Given the description of an element on the screen output the (x, y) to click on. 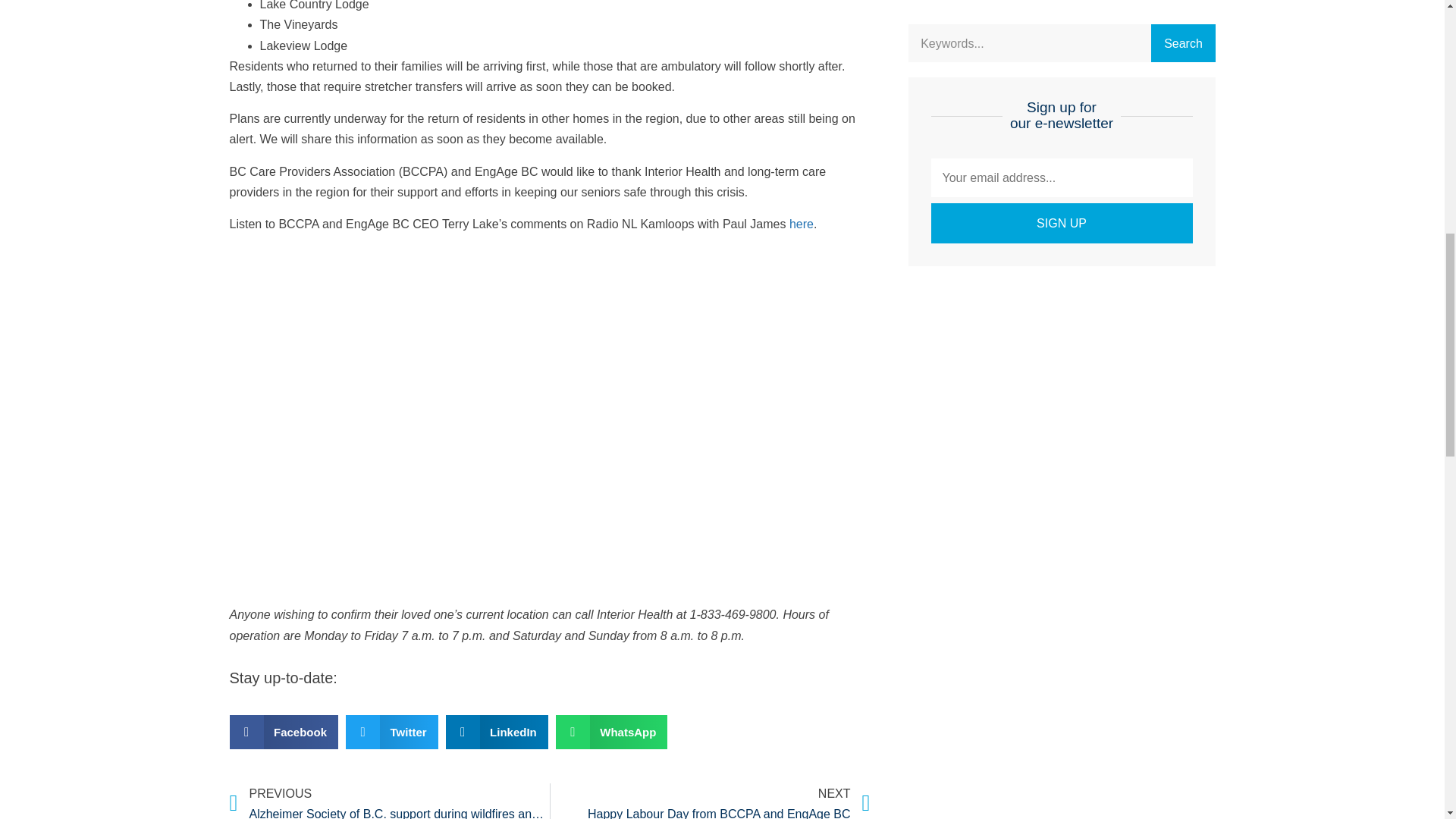
Follow by Email (360, 680)
